Given the description of an element on the screen output the (x, y) to click on. 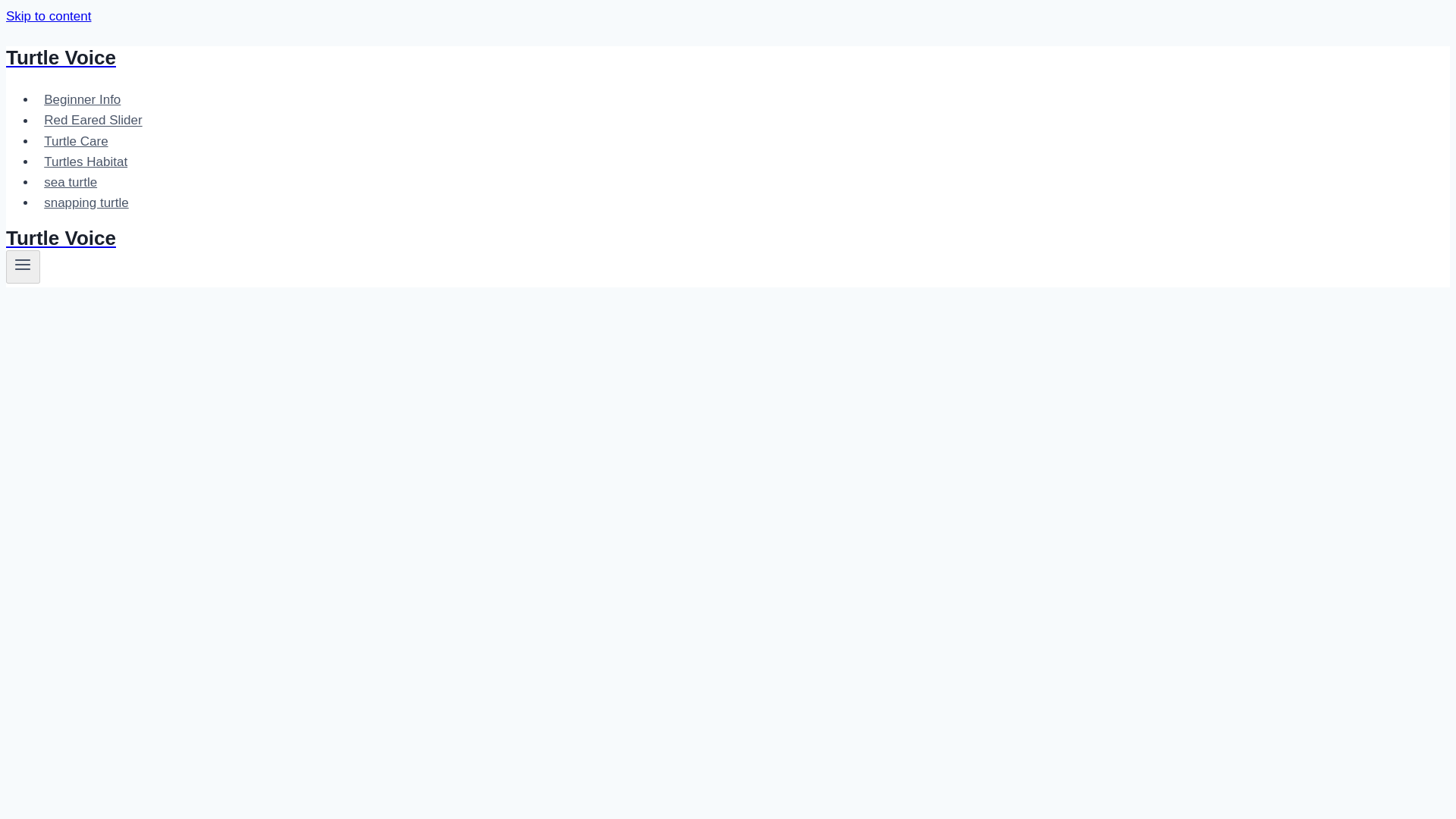
Skip to content (47, 16)
Red Eared Slider (92, 120)
Turtle Care (76, 141)
Skip to content (47, 16)
Turtles Habitat (85, 161)
Toggle Menu (22, 264)
Turtle Voice (494, 237)
Beginner Info (82, 99)
sea turtle (70, 182)
snapping turtle (86, 202)
